Given the description of an element on the screen output the (x, y) to click on. 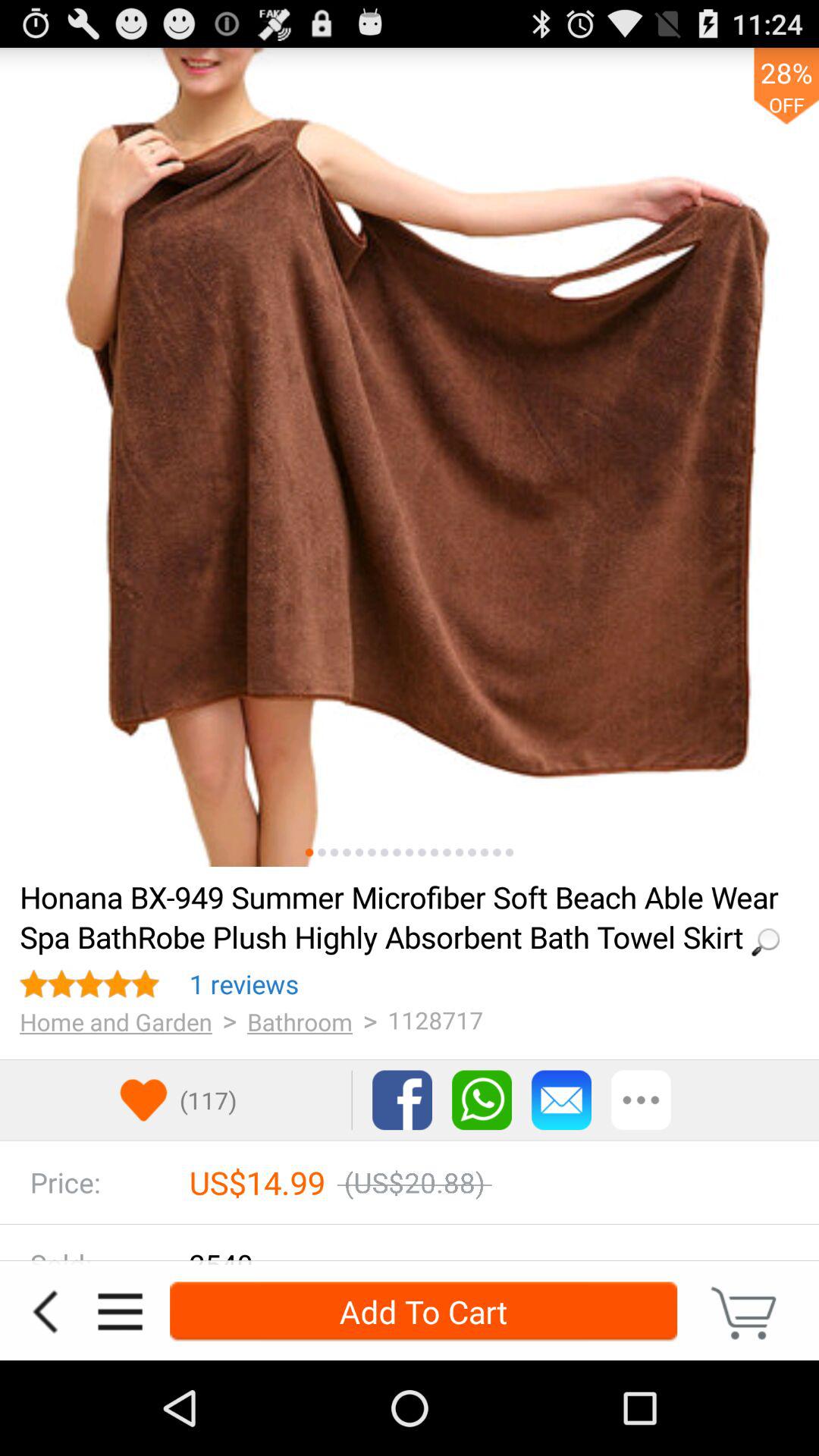
see next image (321, 852)
